Given the description of an element on the screen output the (x, y) to click on. 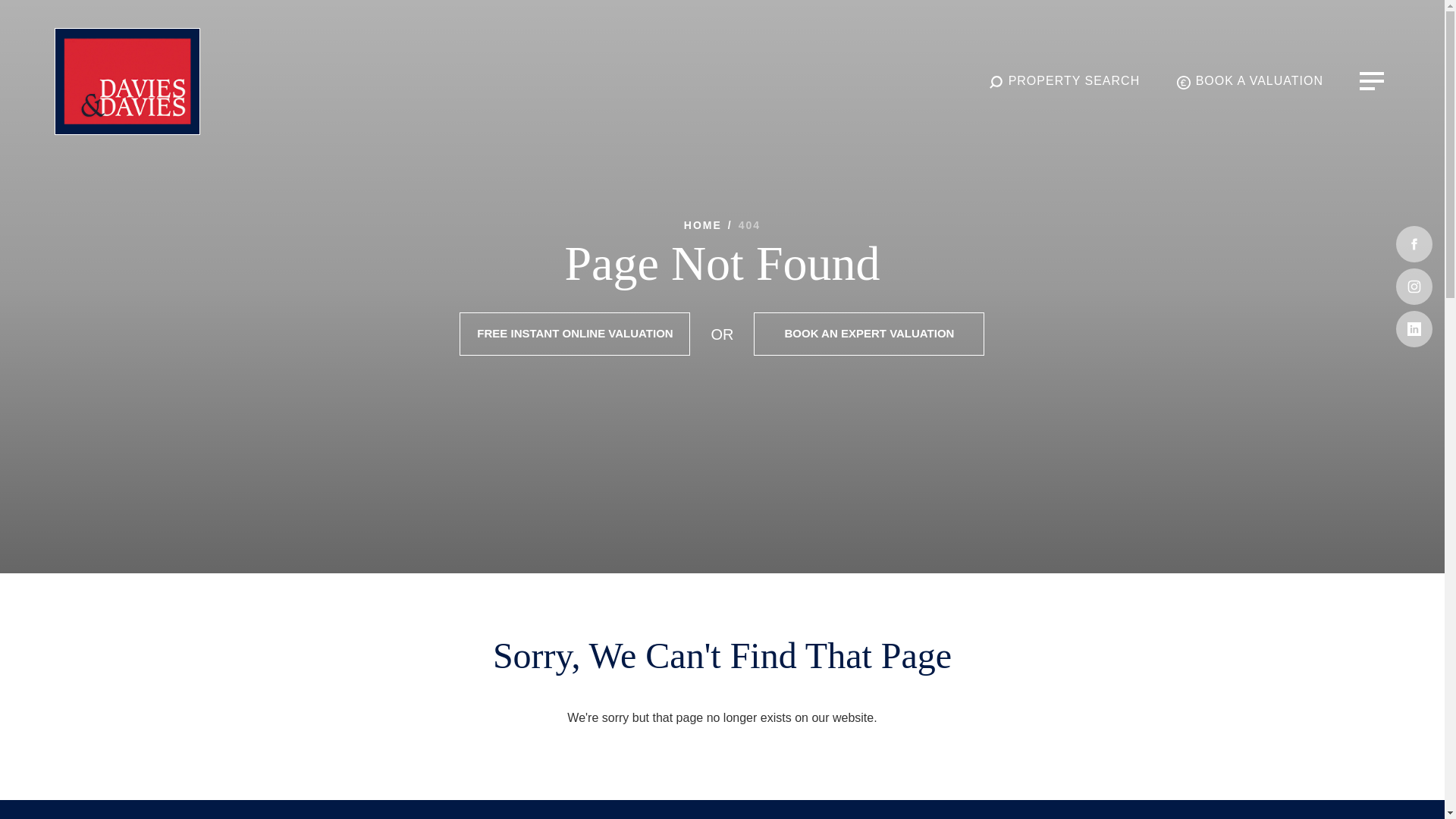
FREE INSTANT ONLINE VALUATION (575, 333)
BOOK AN EXPERT VALUATION (869, 333)
Search (1063, 81)
PROPERTY SEARCH (1063, 81)
BOOK A VALUATION (1249, 81)
Menu (1372, 80)
HOME (703, 224)
